Given the description of an element on the screen output the (x, y) to click on. 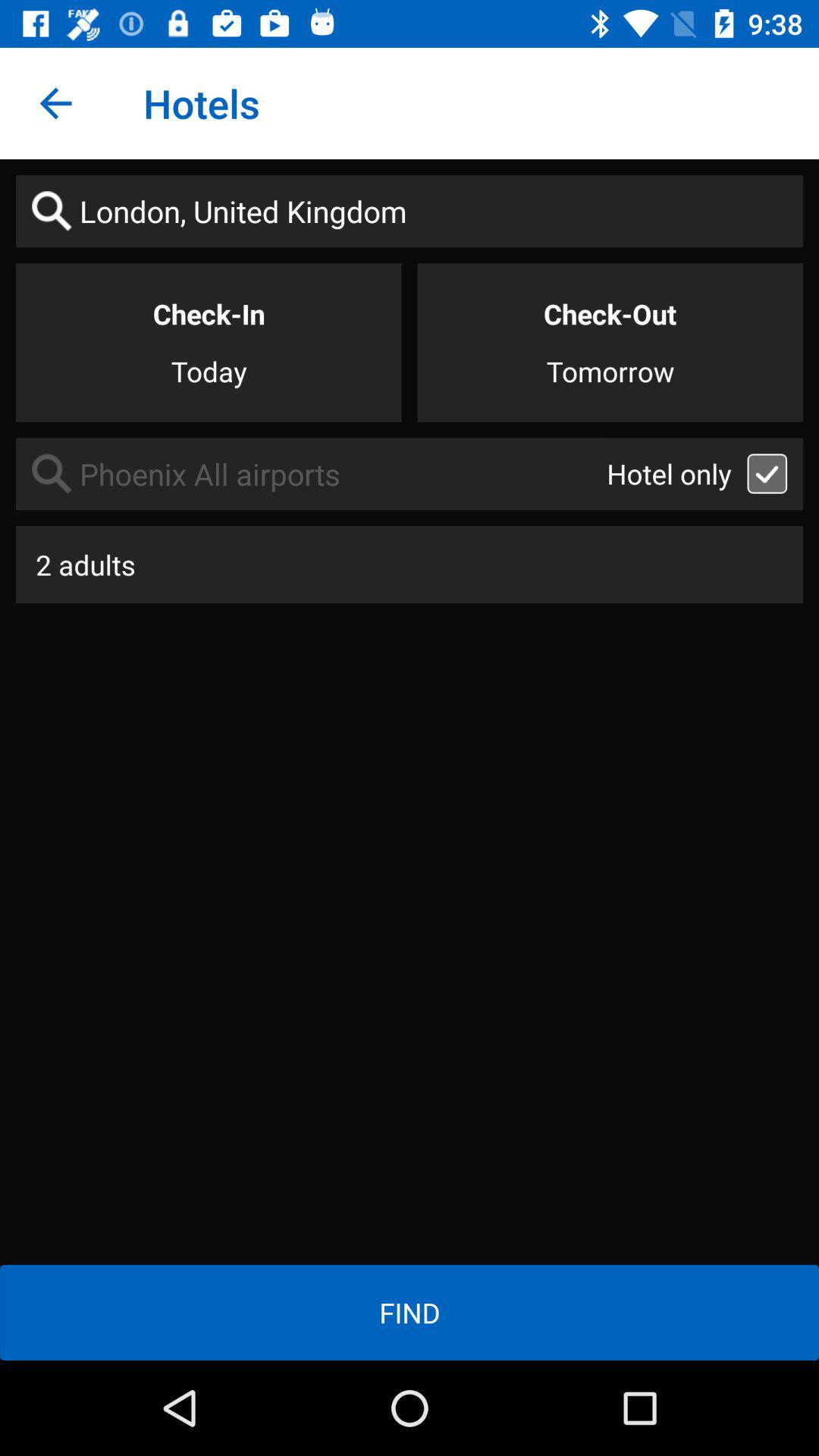
scroll until phoenix all airports icon (310, 473)
